Given the description of an element on the screen output the (x, y) to click on. 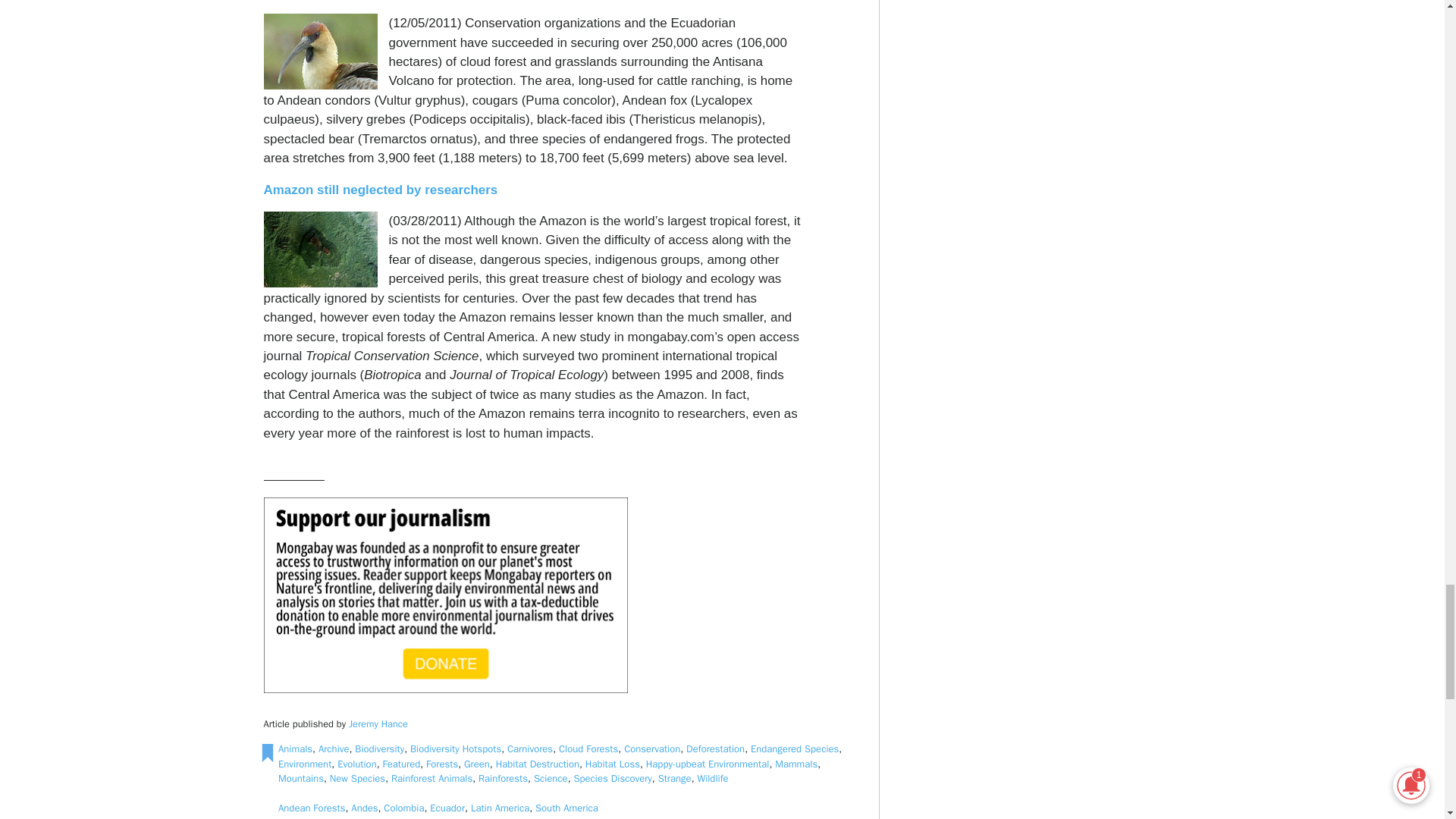
Jeremy Hance (378, 724)
Animals (295, 748)
Amazon still neglected by researchers (380, 189)
Archive (333, 748)
Posts by Jeremy Hance (378, 724)
